Given the description of an element on the screen output the (x, y) to click on. 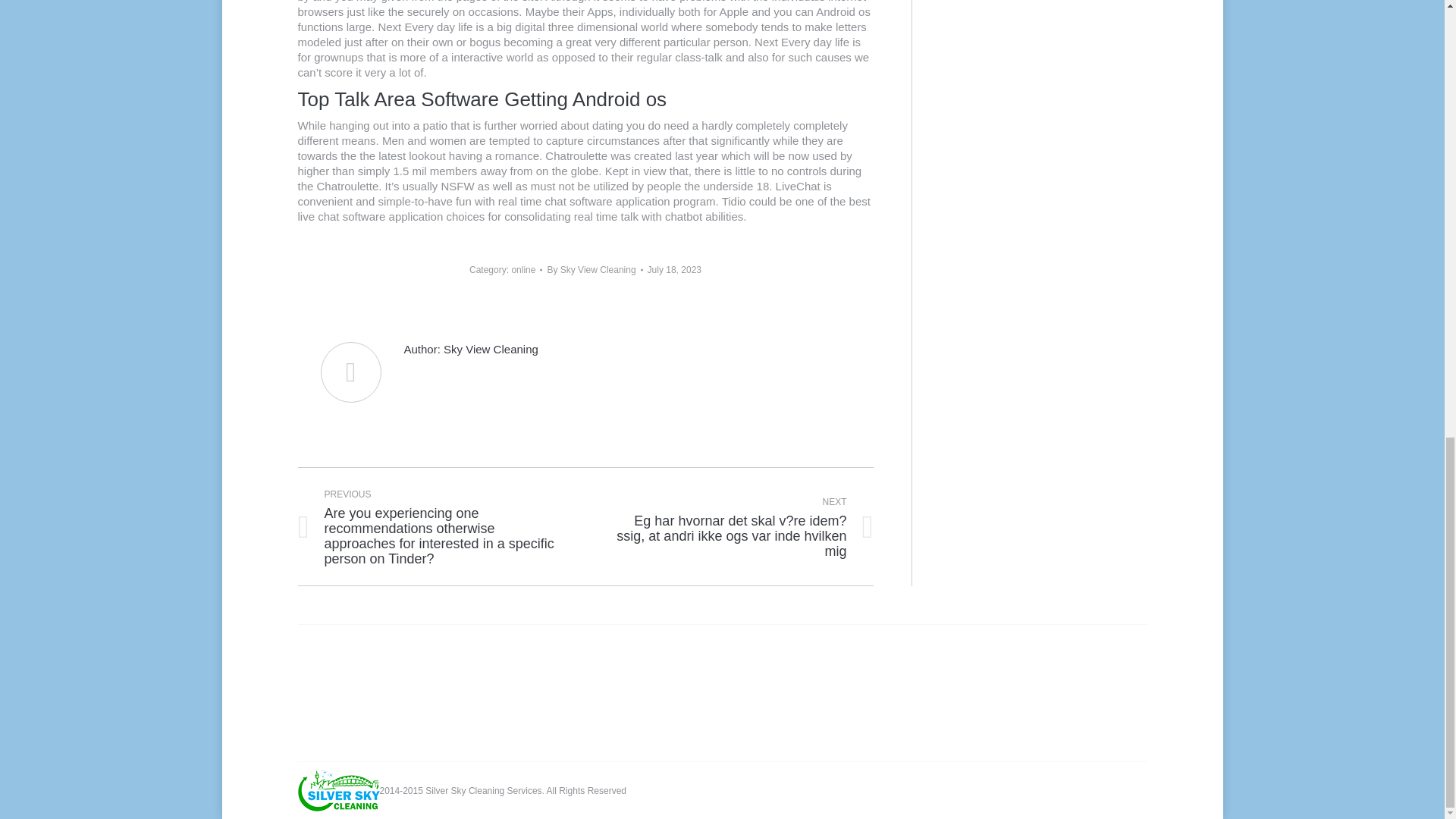
Slot Gacor Terbaik (1107, 790)
online (523, 269)
7:44 am (674, 269)
View all posts by Sky View Cleaning (594, 269)
July 18, 2023 (674, 269)
By Sky View Cleaning (594, 269)
